Given the description of an element on the screen output the (x, y) to click on. 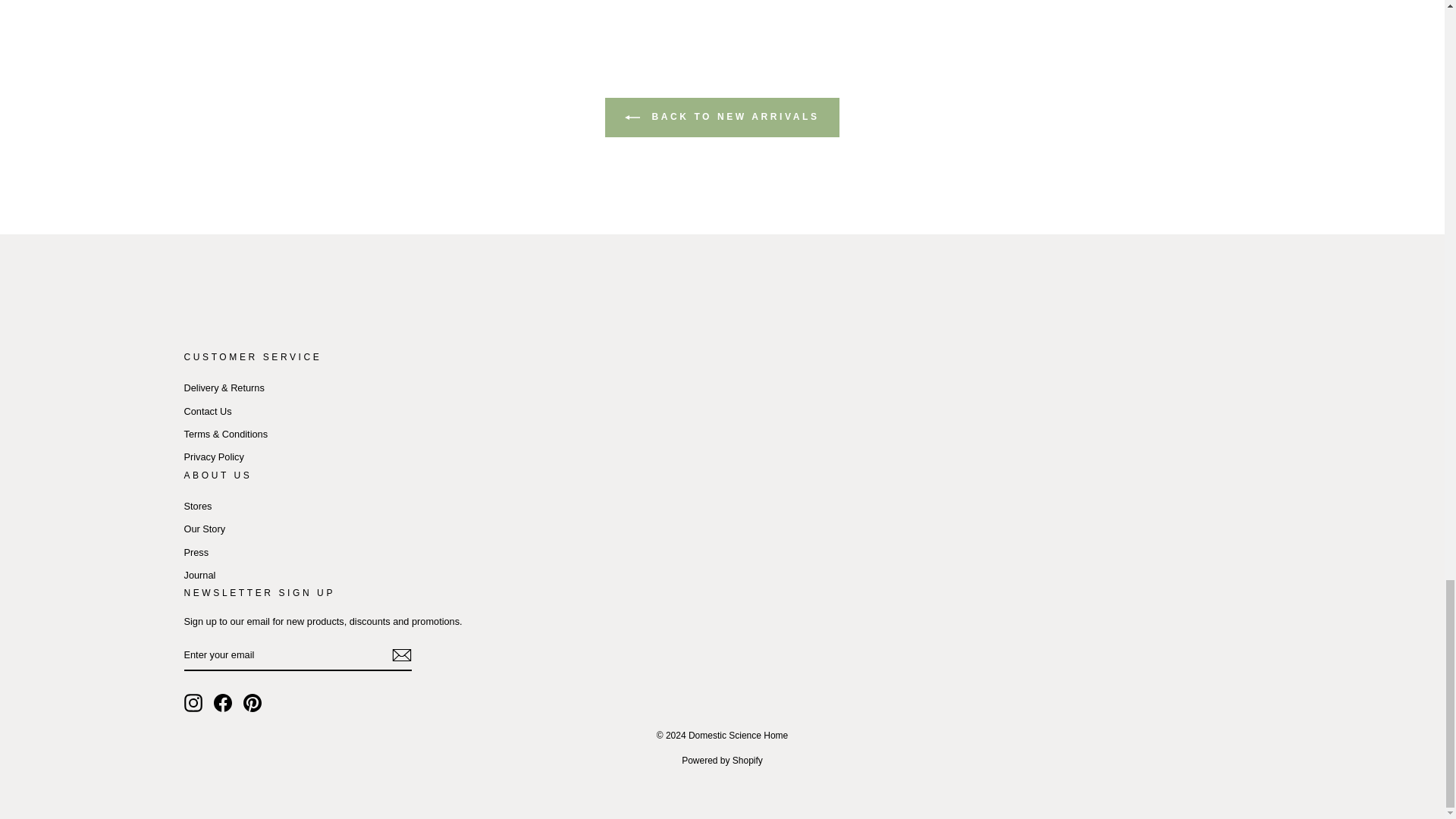
Domestic Science Home on Instagram (192, 702)
Domestic Science Home on Pinterest (251, 702)
Domestic Science Home on Facebook (222, 702)
